Given the description of an element on the screen output the (x, y) to click on. 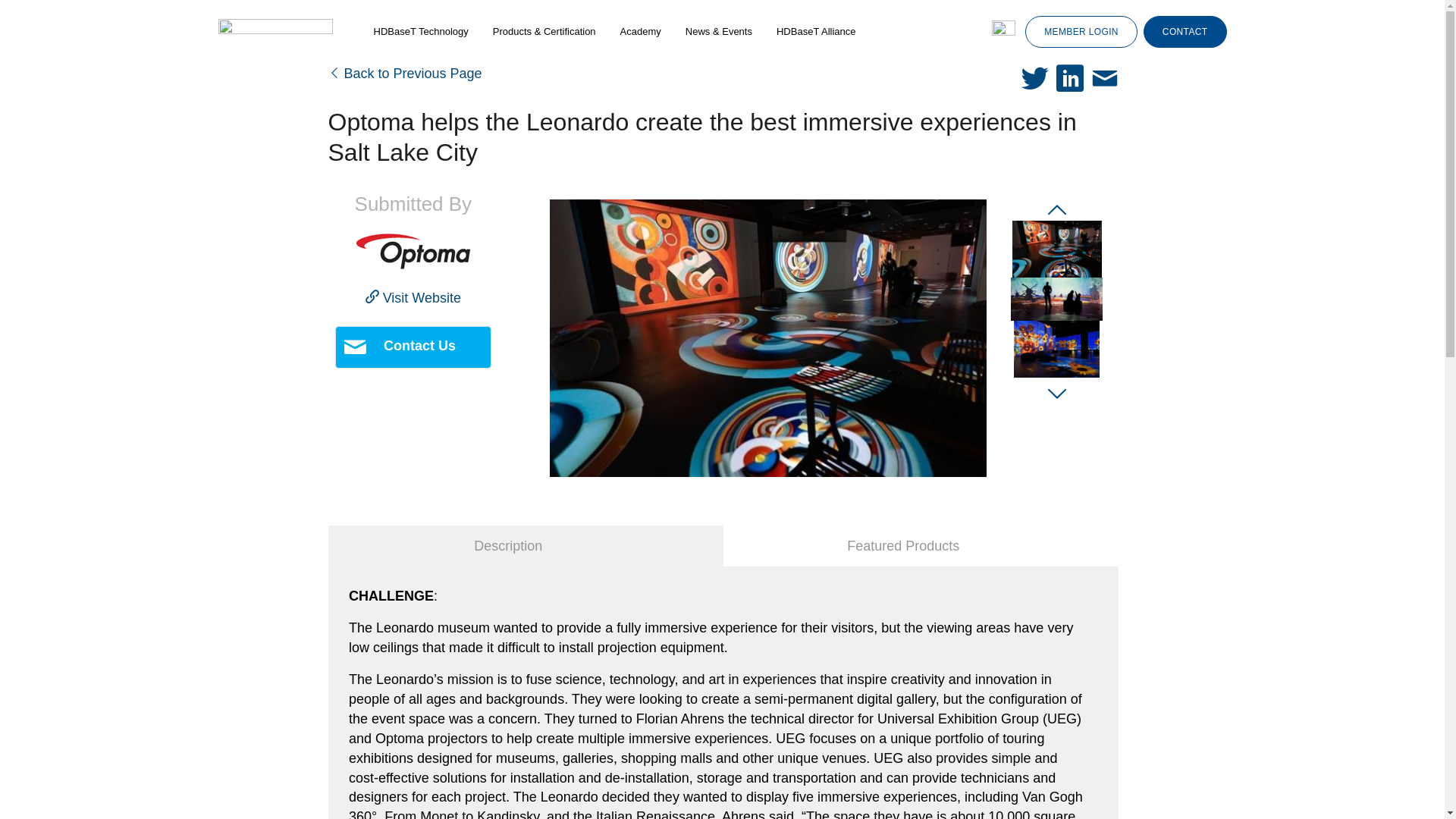
HDBaseT Alliance (816, 31)
MEMBER LOGIN (1081, 31)
Image 3 of 3 (1056, 349)
Image 2 of 3 (1056, 299)
HDBaseT Technology (419, 31)
Image 1 of 3 (1056, 248)
Visit Website (413, 297)
Academy (640, 31)
Back to Previous Page (404, 73)
CONTACT (1184, 31)
